Given the description of an element on the screen output the (x, y) to click on. 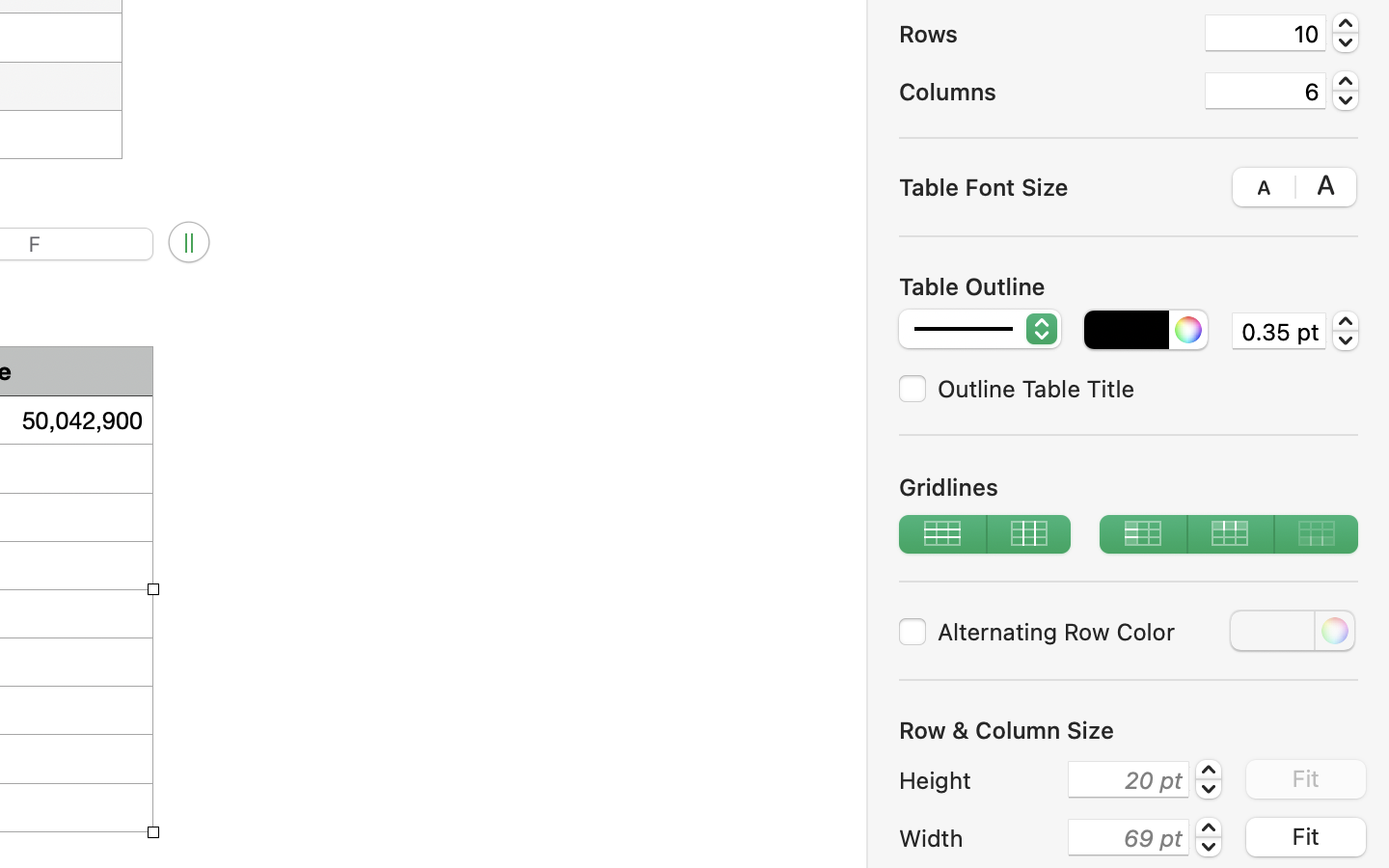
Row & Column Size Element type: AXStaticText (1006, 729)
10 Element type: AXTextField (1265, 32)
0.3499999940395355 Element type: AXIncrementor (1345, 329)
Columns Element type: AXStaticText (1043, 91)
